Given the description of an element on the screen output the (x, y) to click on. 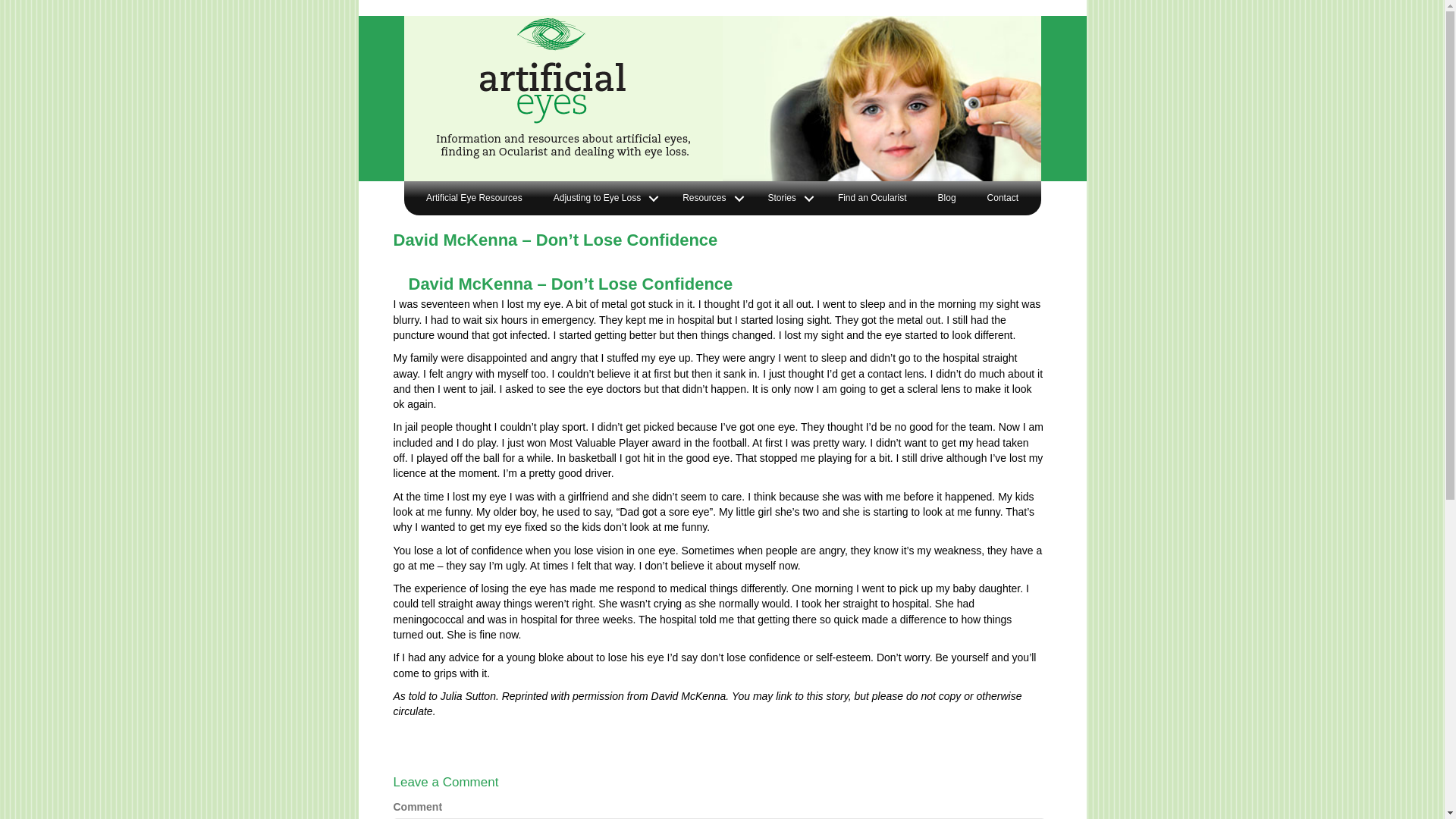
Resources Element type: text (709, 198)
Artificial Eye Resources Element type: text (474, 198)
Adjusting to Eye Loss Element type: text (602, 198)
Contact Element type: text (1002, 198)
Blog Element type: text (946, 198)
Artificial Eyes Element type: hover (562, 87)
Find an Ocularist Element type: text (872, 198)
Stories Element type: text (787, 198)
